Given the description of an element on the screen output the (x, y) to click on. 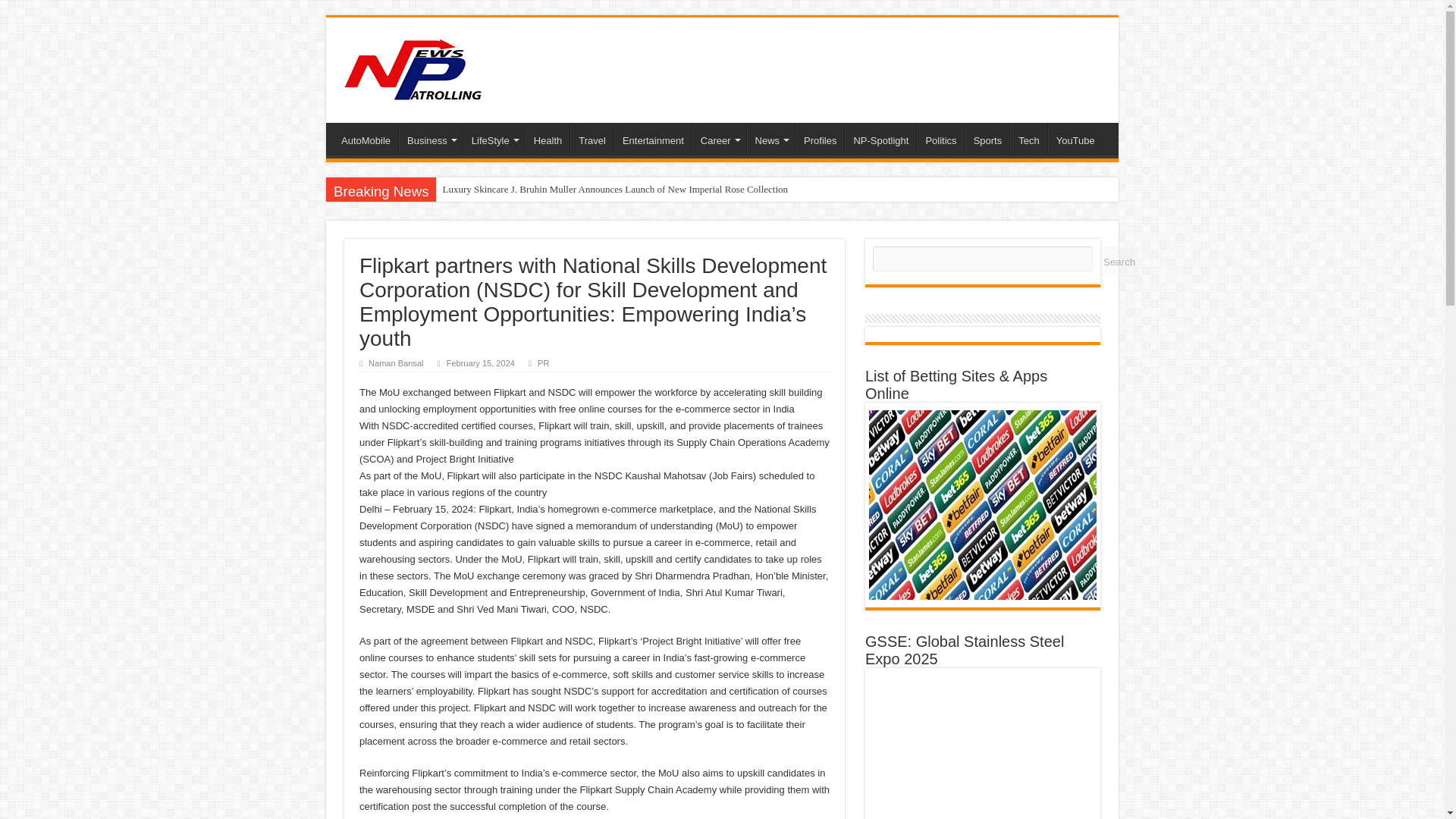
Business (430, 138)
Health (547, 138)
AutoMobile (365, 138)
LifeStyle (493, 138)
Travel (591, 138)
Newspatrolling.com (413, 67)
